Given the description of an element on the screen output the (x, y) to click on. 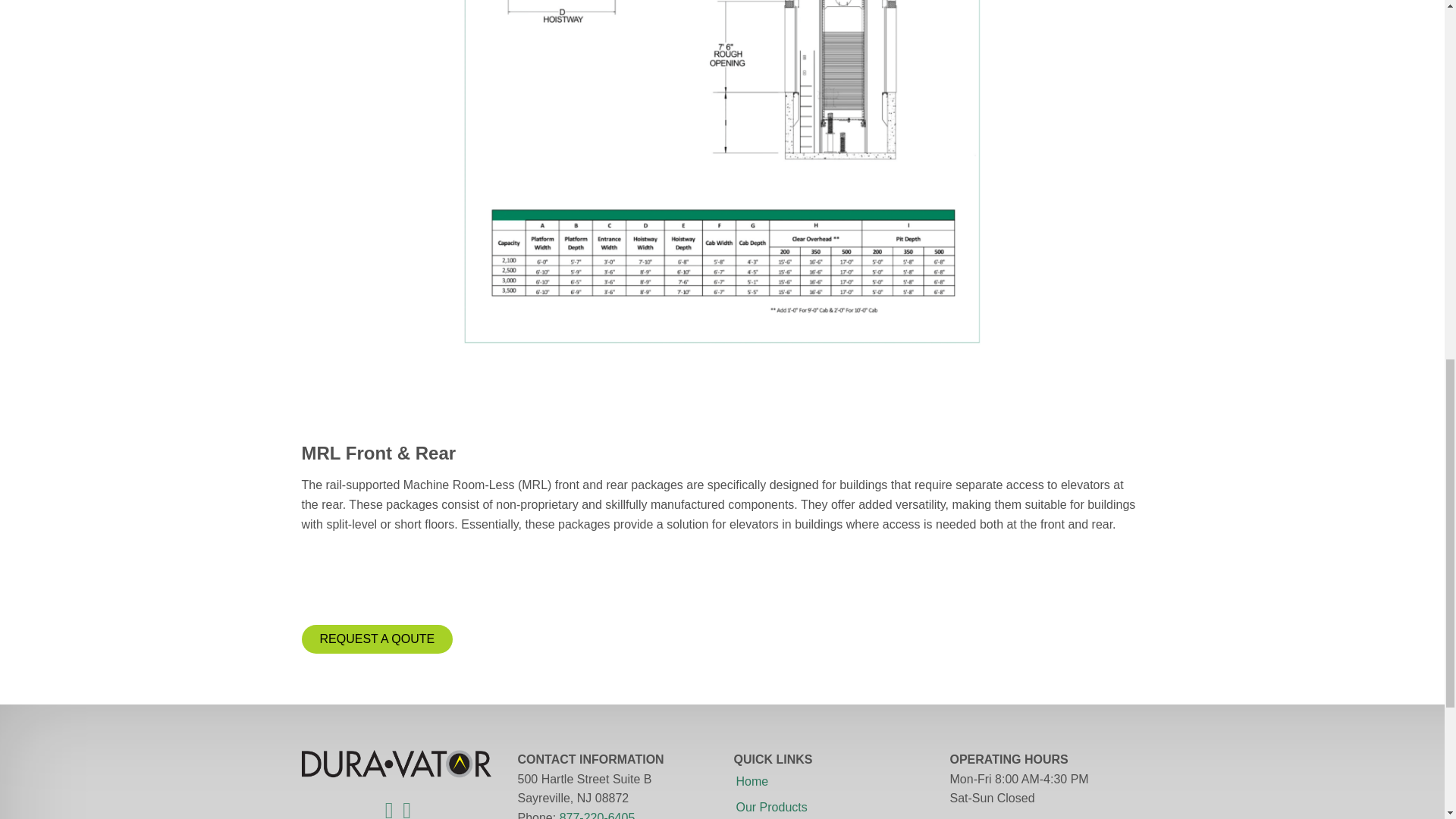
877-220-6405 (596, 813)
REQUEST A QOUTE (376, 638)
Our Products (771, 807)
Home (752, 781)
